Given the description of an element on the screen output the (x, y) to click on. 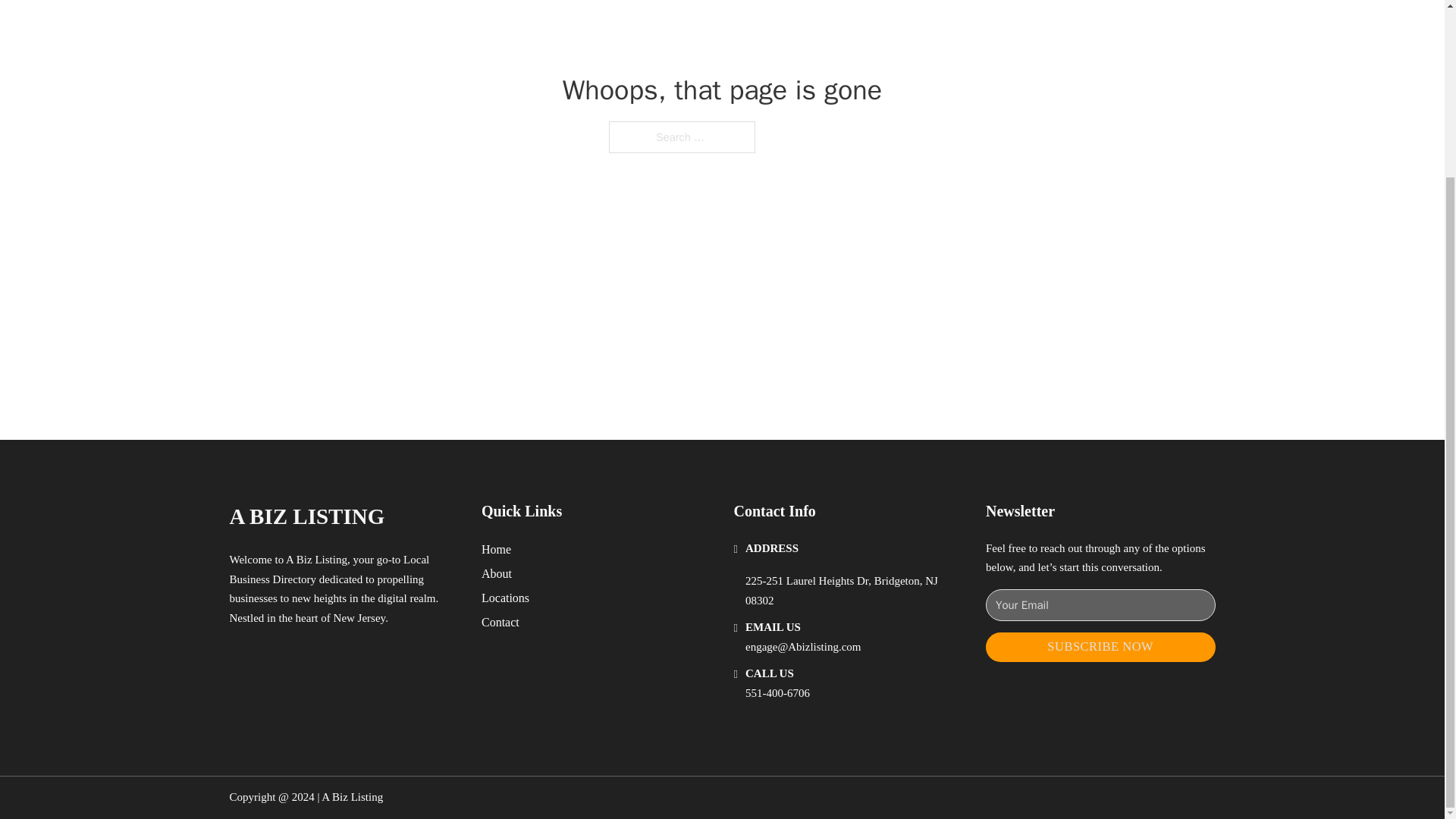
About (496, 573)
SUBSCRIBE NOW (1100, 646)
551-400-6706 (777, 693)
Locations (505, 598)
Home (496, 548)
Contact (500, 621)
A BIZ LISTING (306, 516)
